Given the description of an element on the screen output the (x, y) to click on. 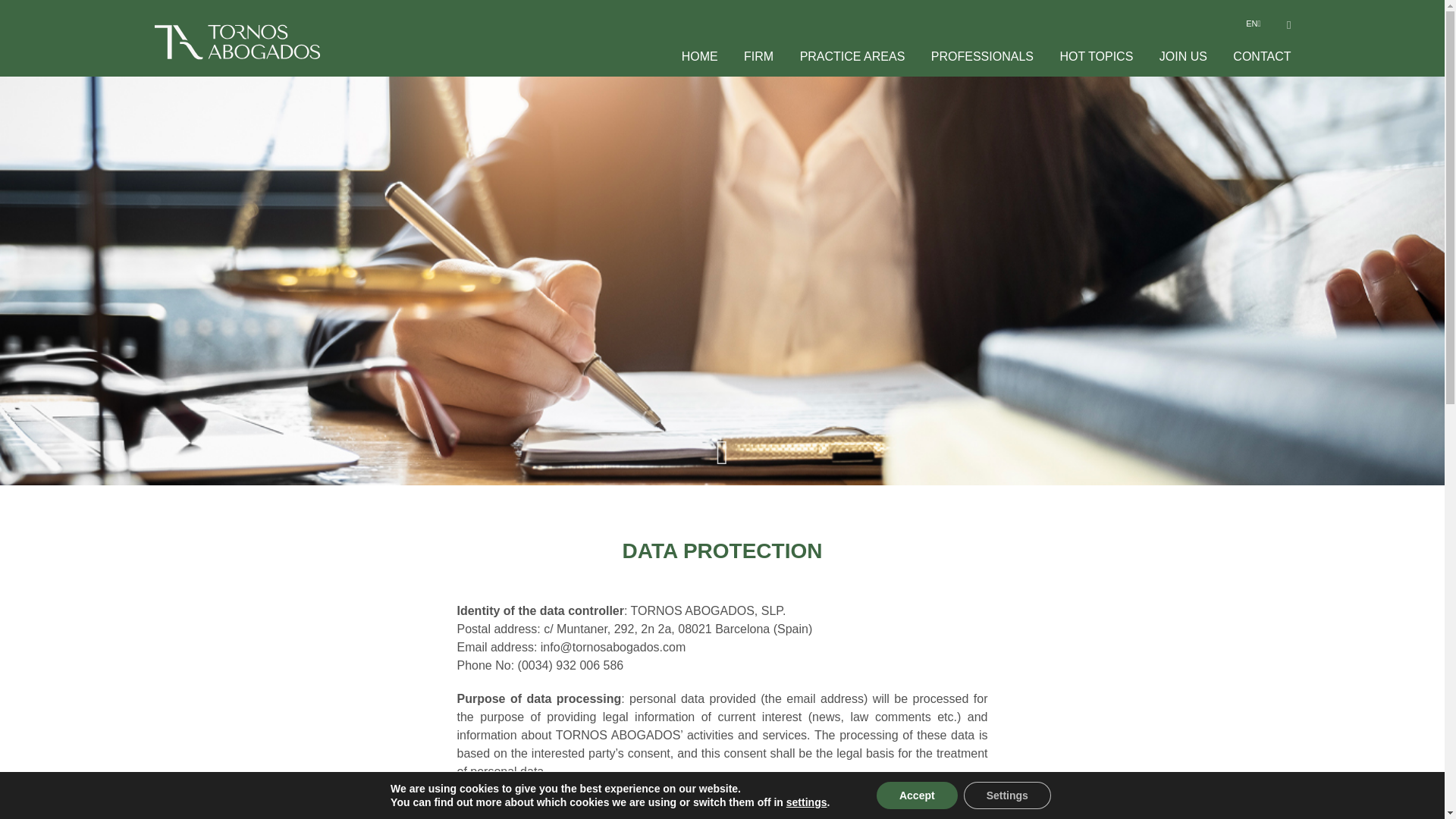
CONTACT (1261, 56)
HOME (699, 56)
Accept (917, 795)
PROFESSIONALS (982, 56)
JOIN US (1182, 56)
Settings (1007, 795)
FIRM (758, 56)
PRACTICE AREAS (852, 56)
EN (1251, 22)
HOT TOPICS (1095, 56)
